Given the description of an element on the screen output the (x, y) to click on. 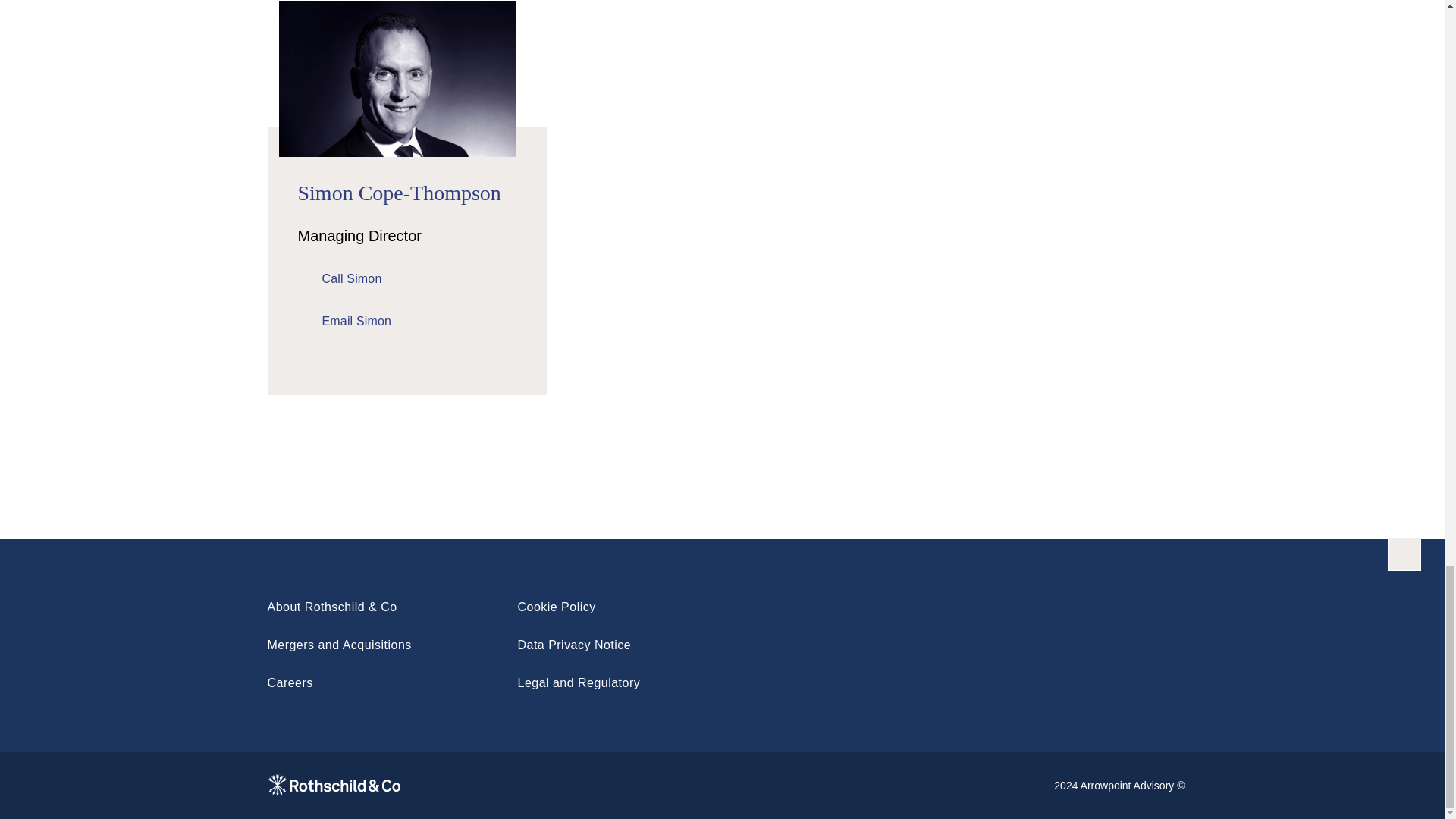
Simon Cope-Thompson (398, 192)
Legal and Regulatory (578, 682)
Call Simon (339, 278)
Cookie Policy (555, 606)
Mergers and Acquisitions (338, 644)
Data Privacy Notice (573, 644)
Email Simon (344, 321)
Careers (289, 682)
